Given the description of an element on the screen output the (x, y) to click on. 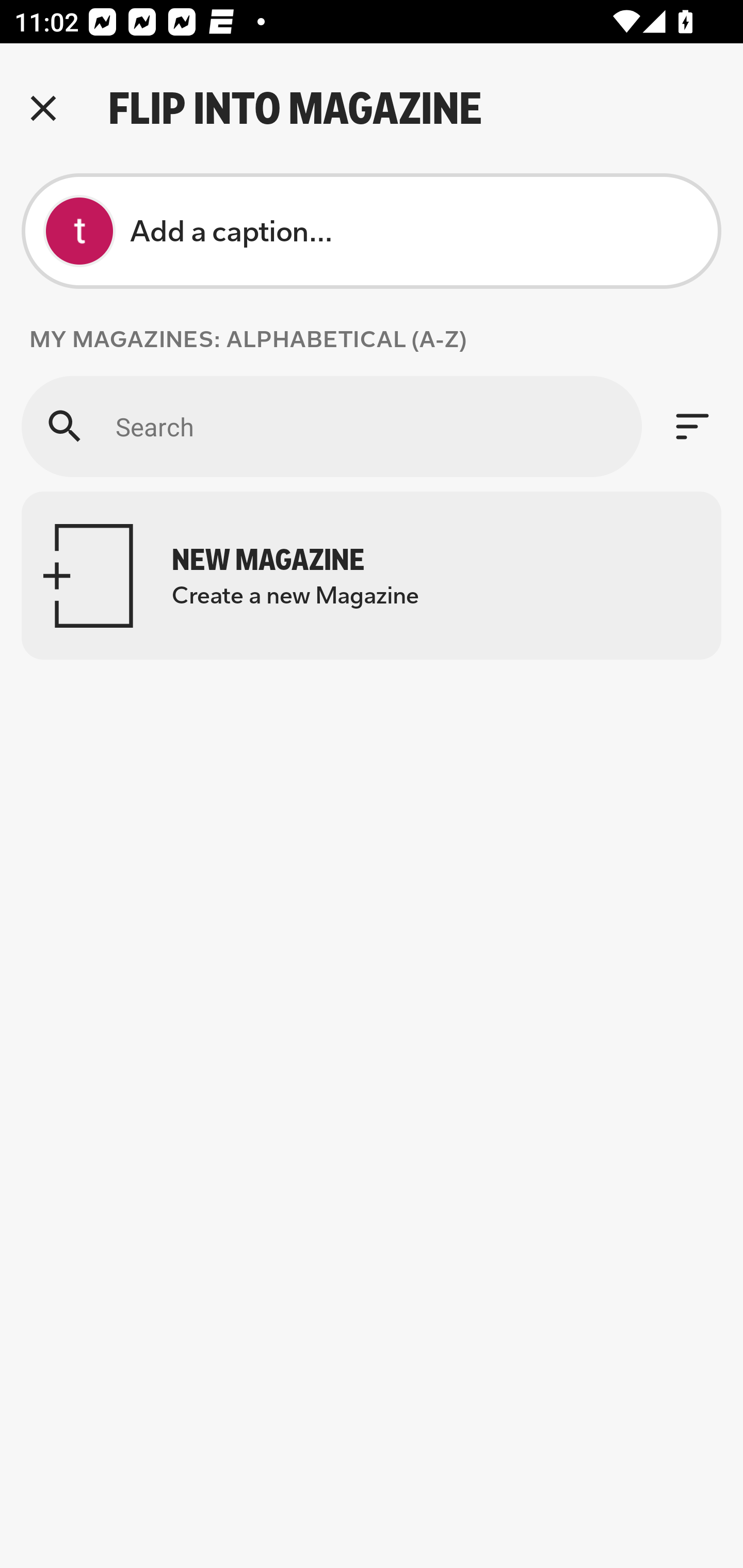
test appium Add a caption… (371, 231)
Search (331, 426)
NEW MAGAZINE Create a new Magazine (371, 575)
